Given the description of an element on the screen output the (x, y) to click on. 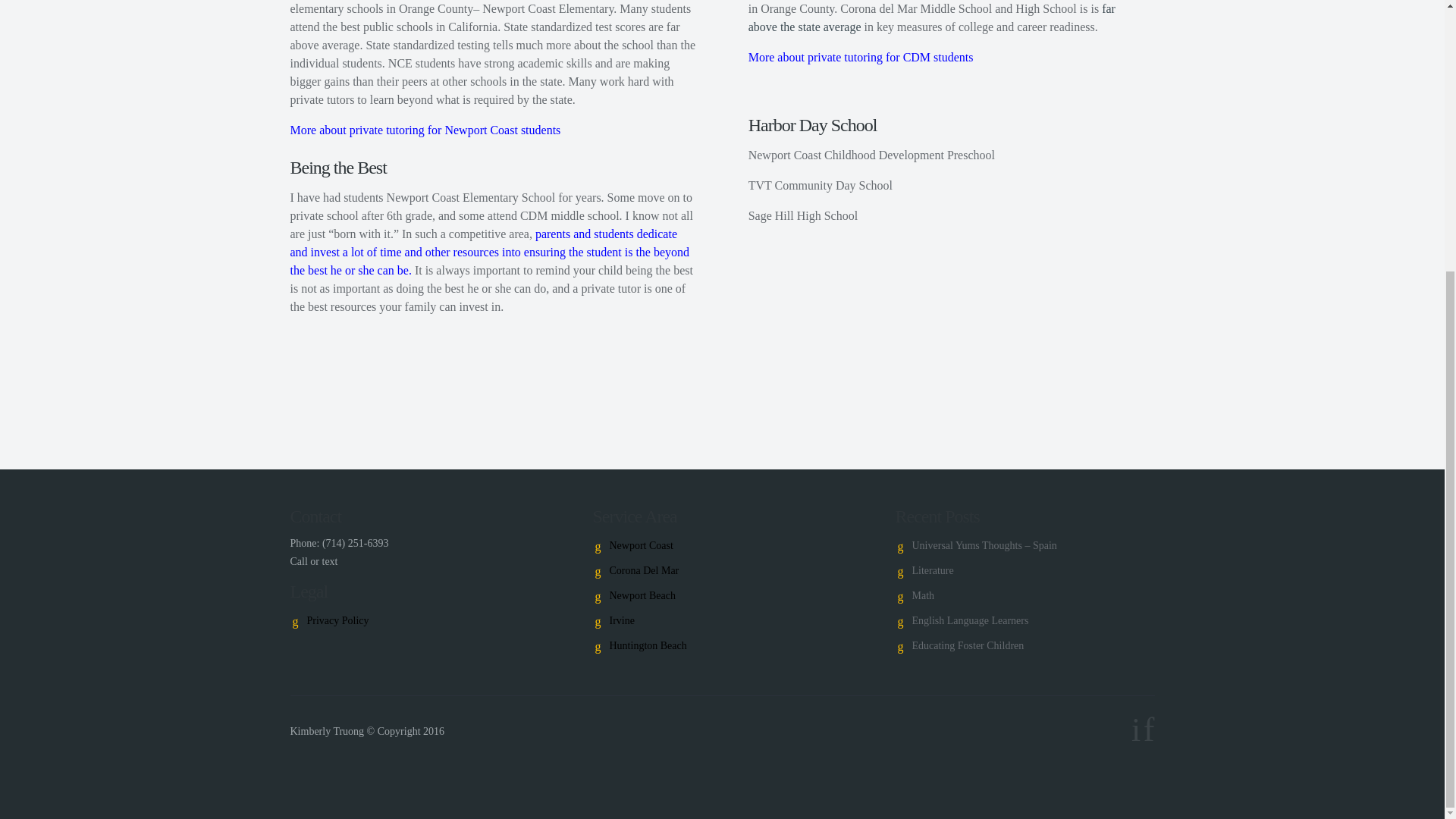
far above the state average (931, 17)
Huntington Beach (648, 645)
More about private tutoring for Newport Coast students (424, 129)
Privacy Policy (336, 620)
Math (922, 595)
State standardized test scores are far above average (484, 35)
Newport Coast (641, 545)
More about private tutoring for CDM students (861, 56)
Educating Foster Children (967, 645)
Newport Beach (642, 595)
Irvine (622, 620)
Corona Del Mar (644, 570)
Literature (932, 570)
English Language Learners (969, 620)
